Given the description of an element on the screen output the (x, y) to click on. 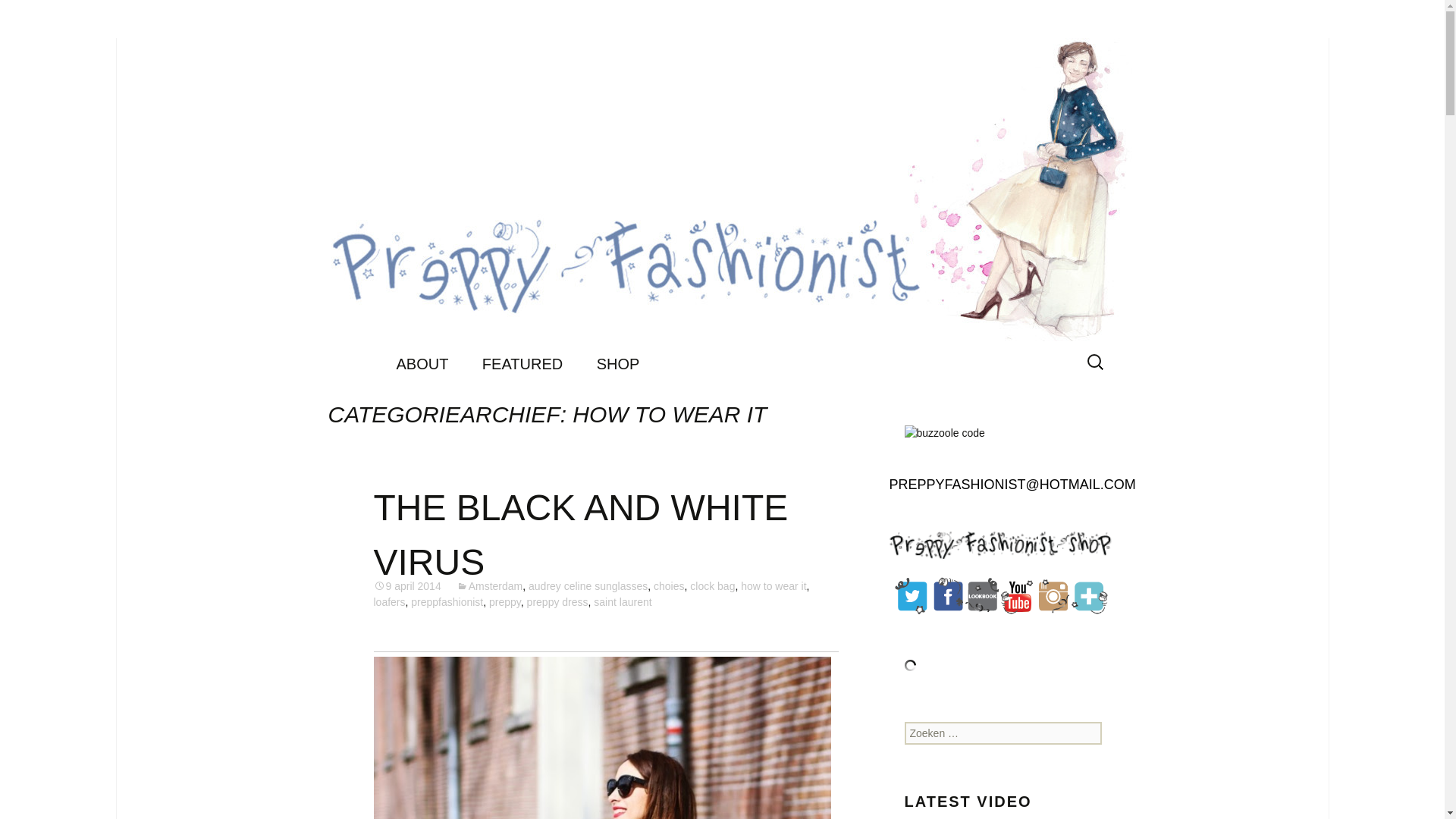
SHOP (617, 363)
how to wear it (773, 585)
9 april 2014 (406, 585)
preppy (505, 602)
Twitter (911, 595)
preppy dress (557, 602)
Permalink naar The Black and White Virus (406, 585)
preppfashionist (446, 602)
choies (668, 585)
